Given the description of an element on the screen output the (x, y) to click on. 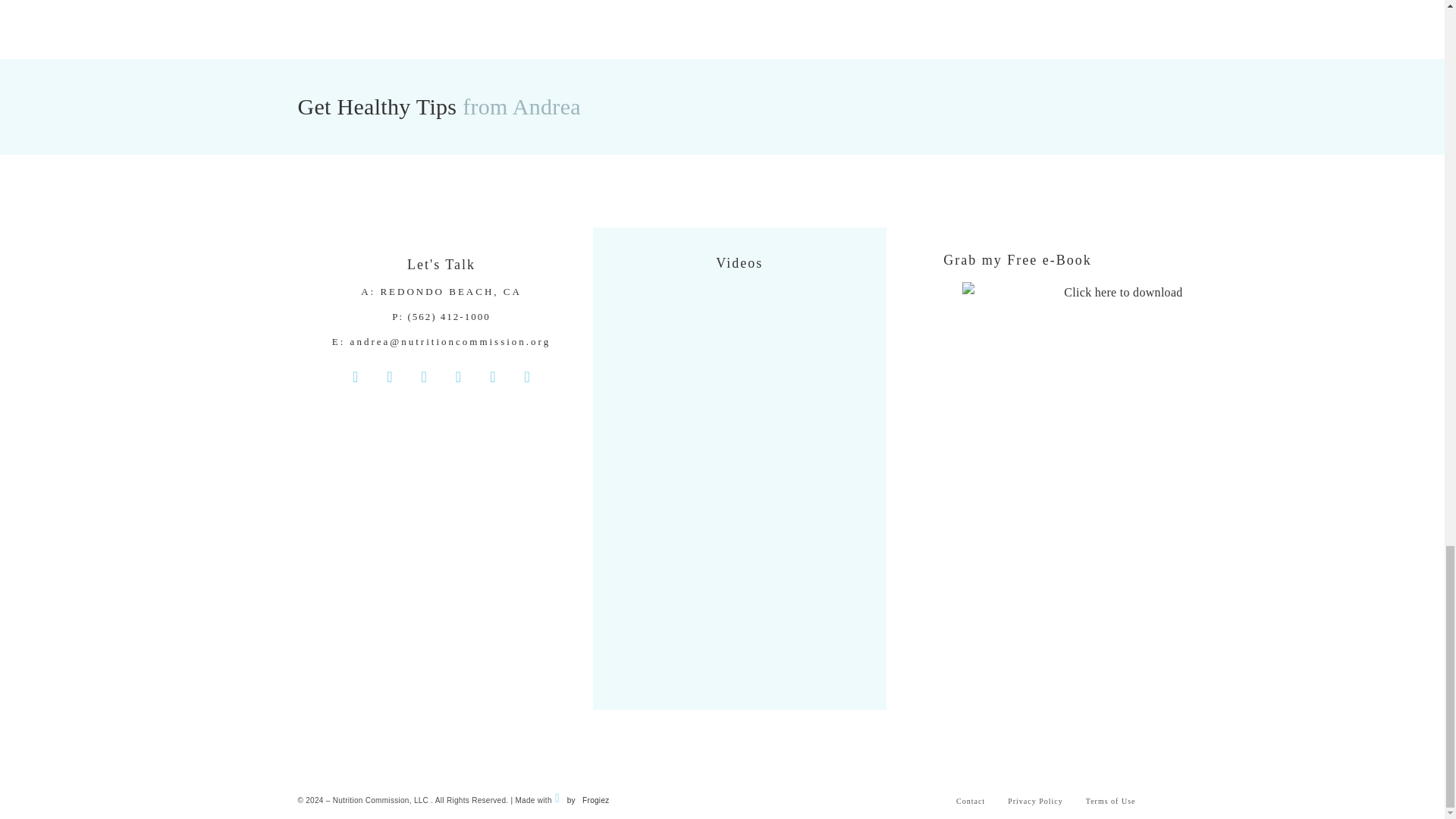
  by (570, 800)
Contact (969, 801)
Privacy Policy (1034, 801)
  Frogiez (594, 800)
